Given the description of an element on the screen output the (x, y) to click on. 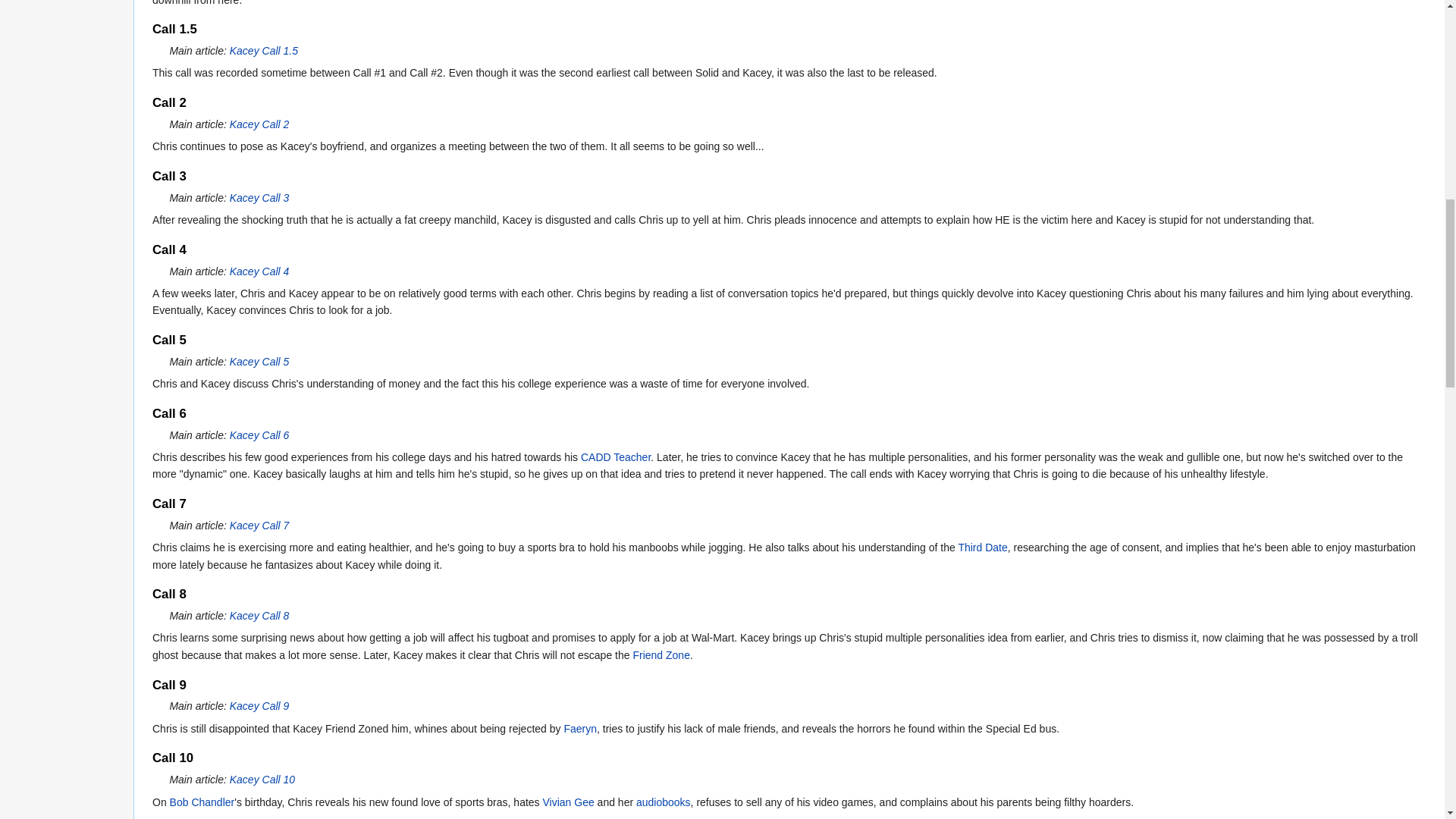
Kacey Call 3 (259, 197)
Kacey Call 4 (259, 271)
Kacey Call 6 (259, 435)
Kacey Call 5 (259, 361)
CADD Chef (615, 457)
Third Date (982, 547)
Kacey Call 2 (259, 123)
Kacey Call 7 (259, 525)
Kacey Call 1.5 (264, 50)
